Given the description of an element on the screen output the (x, y) to click on. 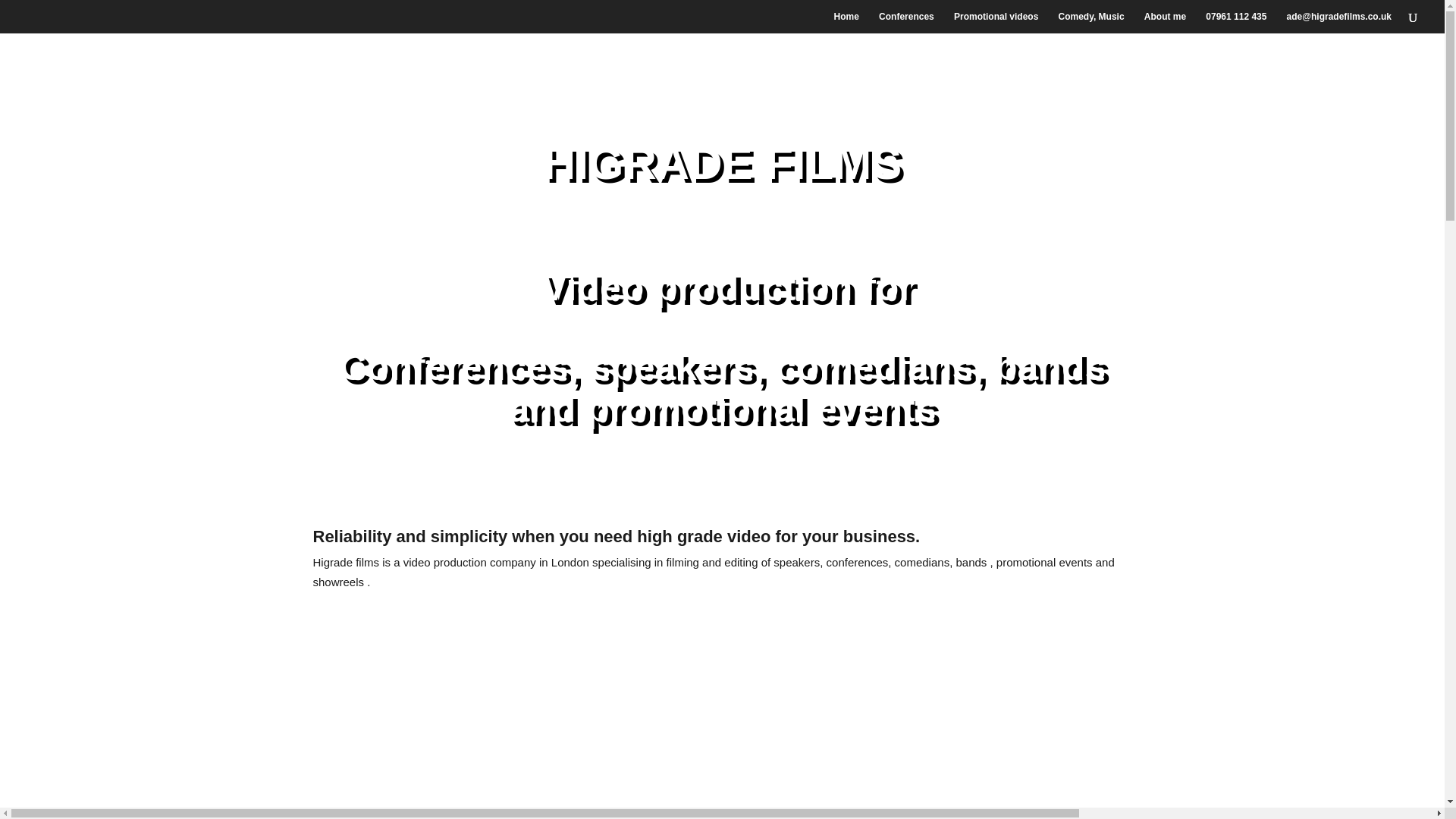
07961 112 435 (1235, 22)
Home (846, 22)
Promotional videos (995, 22)
Comedy, Music (1091, 22)
About me (1165, 22)
Conferences (906, 22)
